Given the description of an element on the screen output the (x, y) to click on. 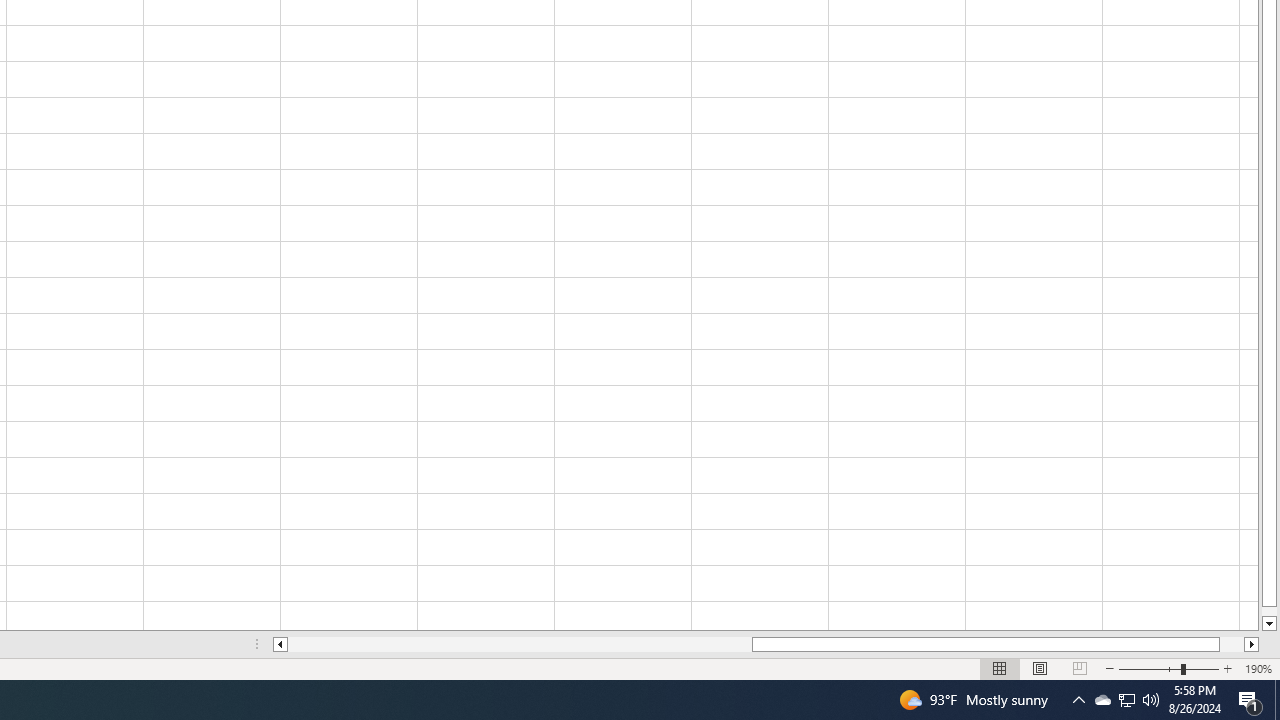
Page left (520, 644)
